Given the description of an element on the screen output the (x, y) to click on. 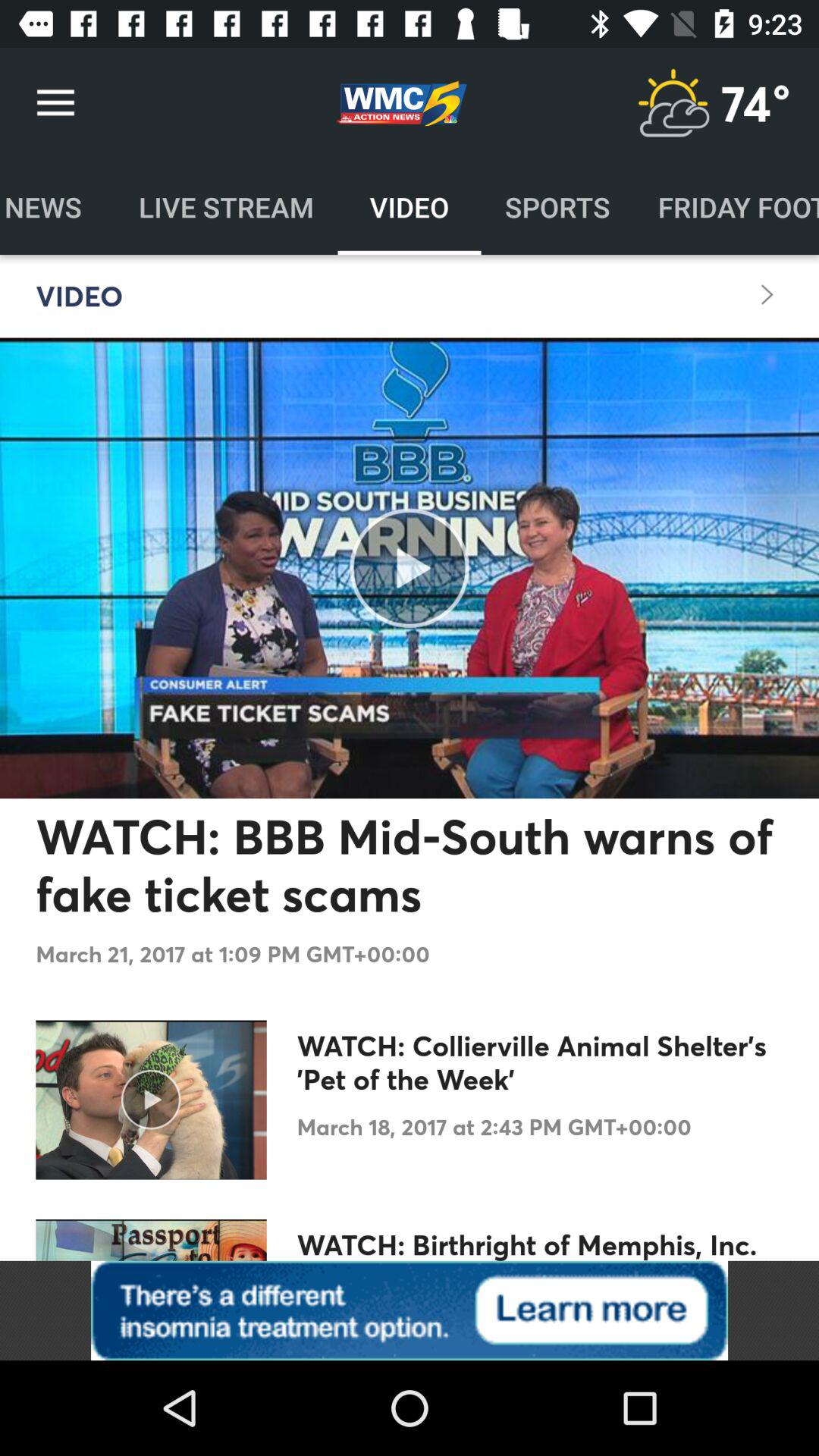
advertisement about insomnia treatment (409, 1310)
